Given the description of an element on the screen output the (x, y) to click on. 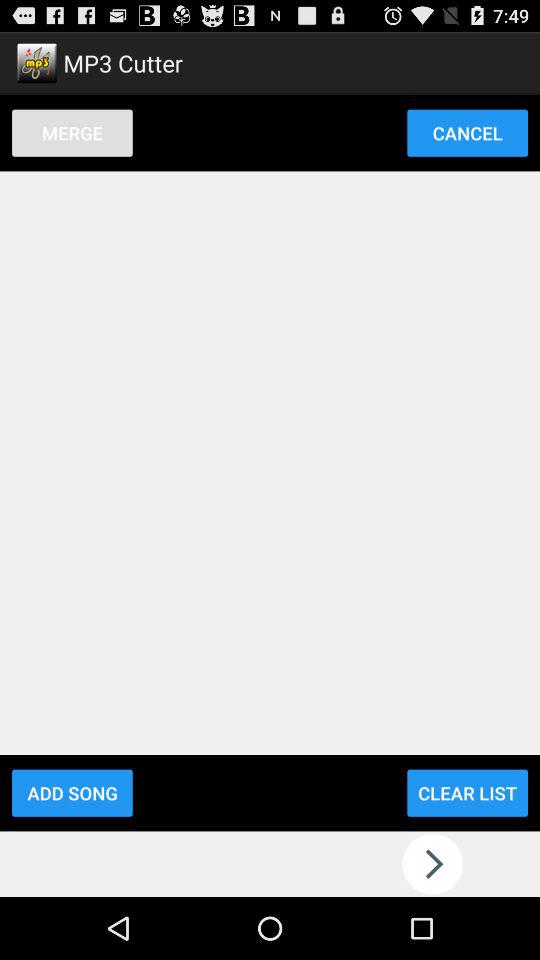
press button to the right of merge icon (467, 132)
